Given the description of an element on the screen output the (x, y) to click on. 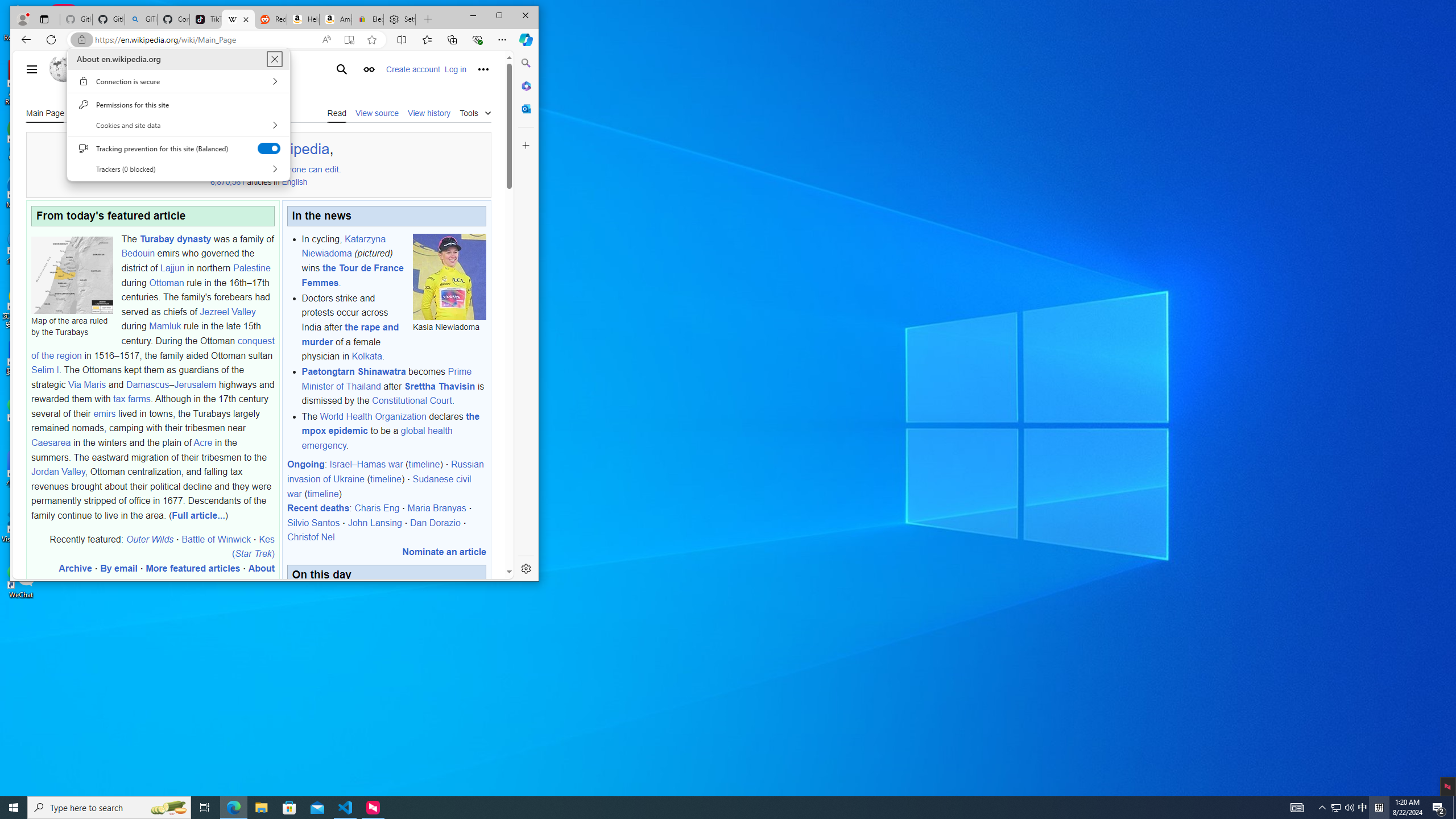
Acre (202, 442)
the mpox epidemic (390, 423)
Via Maris (86, 384)
Dan Dorazio (435, 522)
Jezreel Valley (227, 311)
Amazon.com: Deals (335, 19)
Bedouin (137, 253)
